Given the description of an element on the screen output the (x, y) to click on. 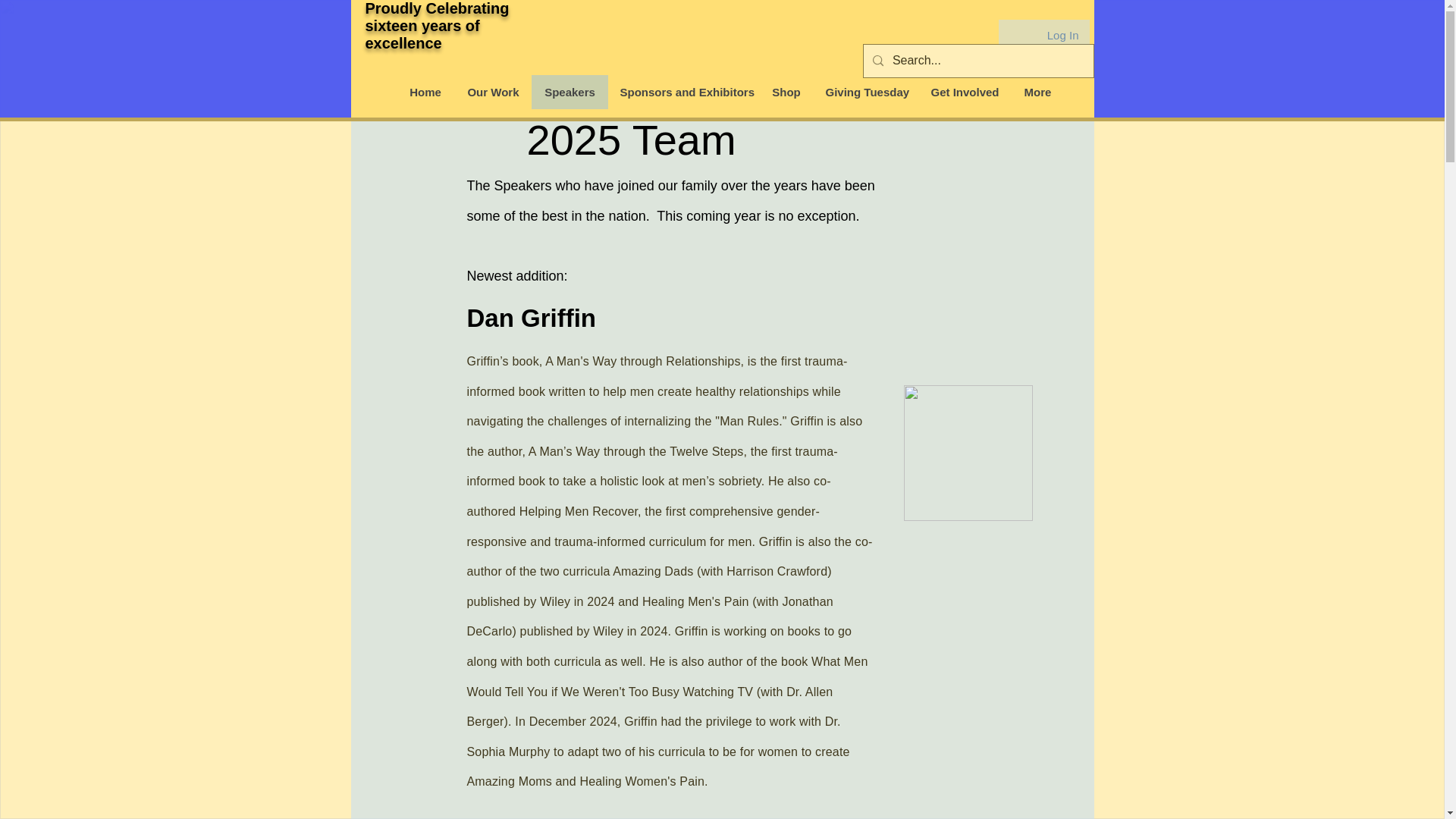
Log In (1062, 34)
Shop (785, 91)
Home (425, 91)
Giving Tuesday (865, 91)
Get Involved (964, 91)
Sponsors and Exhibitors (683, 91)
Speakers (569, 91)
Our Work (492, 91)
